Given the description of an element on the screen output the (x, y) to click on. 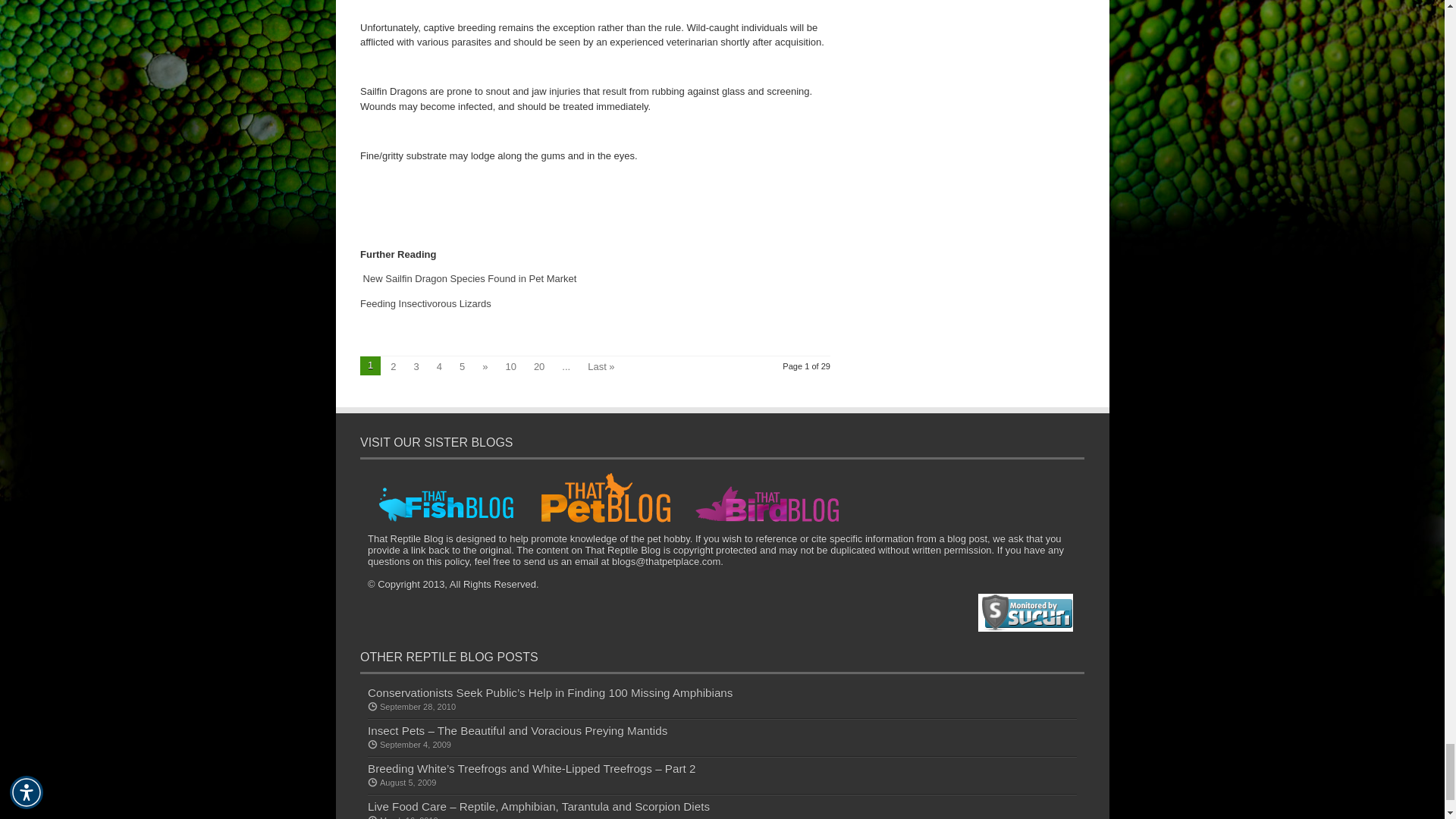
3 (416, 365)
4 (439, 365)
5 (461, 365)
2 (392, 365)
